Given the description of an element on the screen output the (x, y) to click on. 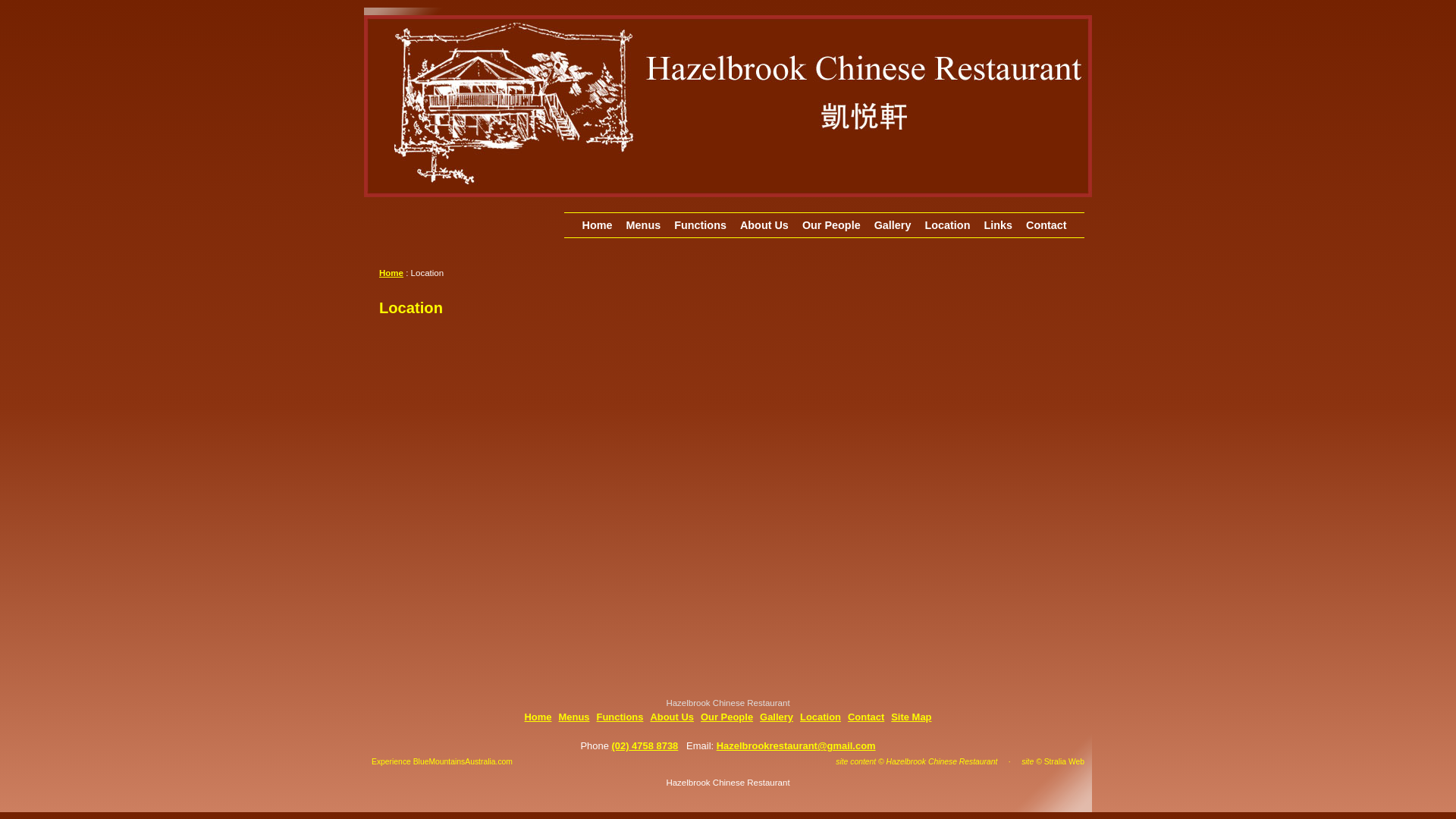
Site Map Element type: text (911, 716)
Contact Element type: text (865, 716)
About Us Element type: text (671, 716)
Location Element type: text (946, 225)
Experience BlueMountainsAustralia.com Element type: text (441, 761)
About Us Element type: text (764, 225)
Functions Element type: text (700, 225)
Location Element type: text (820, 716)
Hazelbrookrestaurant@gmail.com Element type: text (795, 745)
Menus Element type: text (643, 225)
Home Element type: text (597, 225)
Home Element type: text (538, 716)
Links Element type: text (997, 225)
Our People Element type: text (726, 716)
(02) 4758 8738 Element type: text (644, 745)
Our People Element type: text (831, 225)
Menus Element type: text (573, 716)
Gallery Element type: text (892, 225)
Contact Element type: text (1046, 225)
Home Element type: text (391, 272)
Gallery Element type: text (776, 716)
Functions Element type: text (619, 716)
Stralia Web Element type: text (1064, 761)
